Given the description of an element on the screen output the (x, y) to click on. 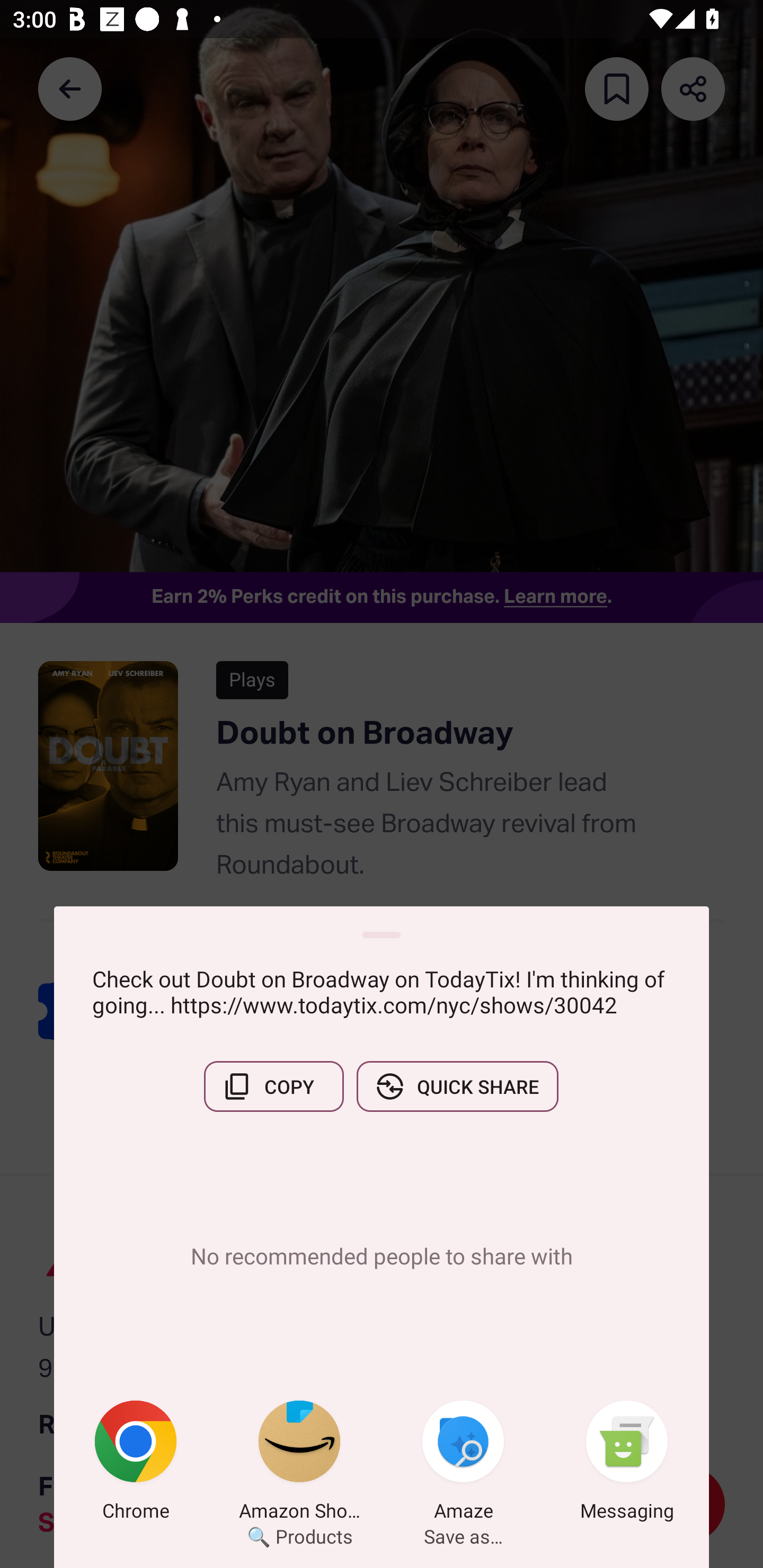
COPY (273, 1086)
QUICK SHARE (457, 1086)
Chrome (135, 1463)
Amazon Shopping 🔍 Products (299, 1463)
Amaze Save as… (463, 1463)
Messaging (626, 1463)
